Given the description of an element on the screen output the (x, y) to click on. 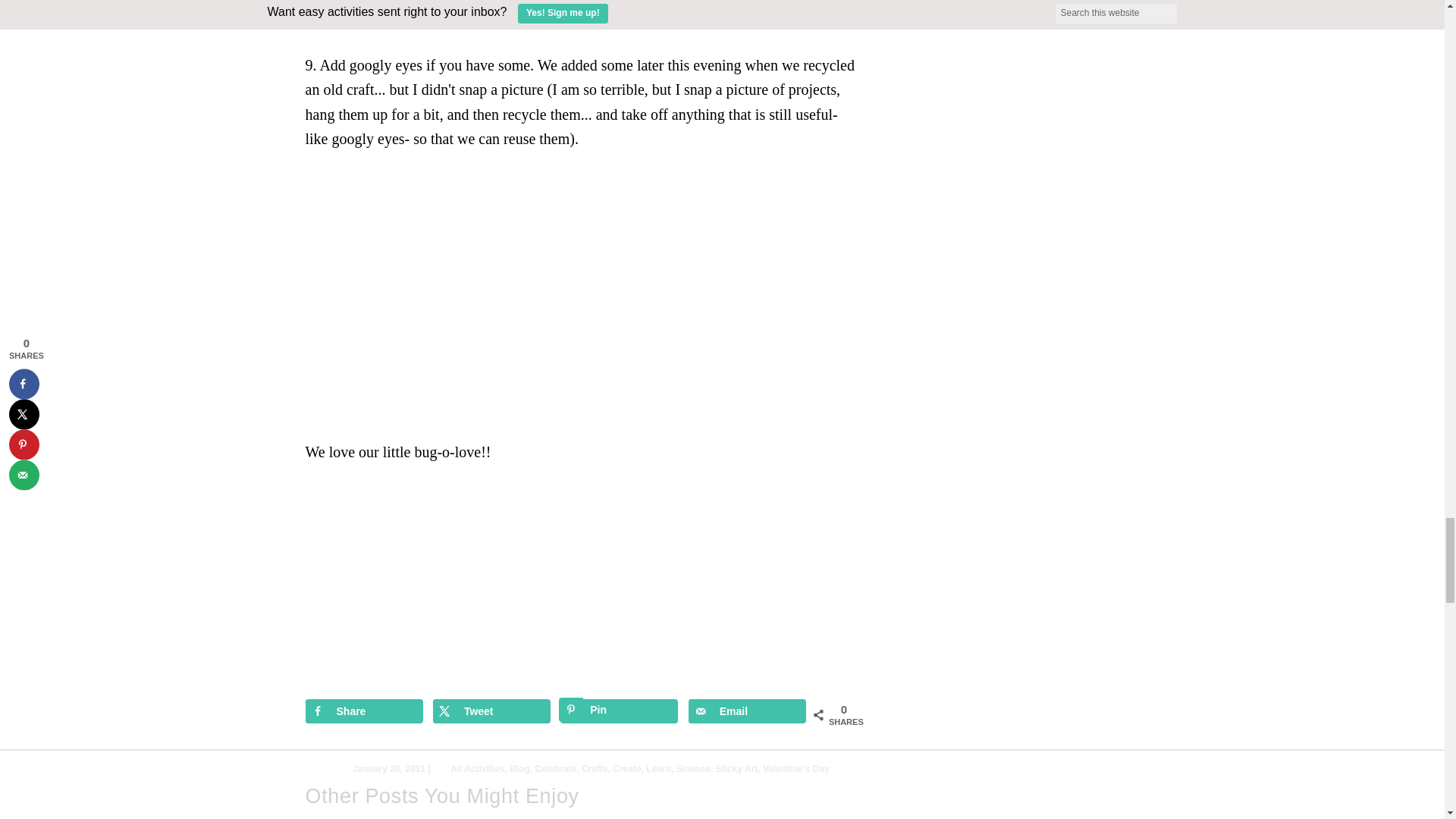
Save to Pinterest (619, 711)
Share on X (491, 711)
Share on Facebook (363, 711)
Send over email (747, 711)
